Given the description of an element on the screen output the (x, y) to click on. 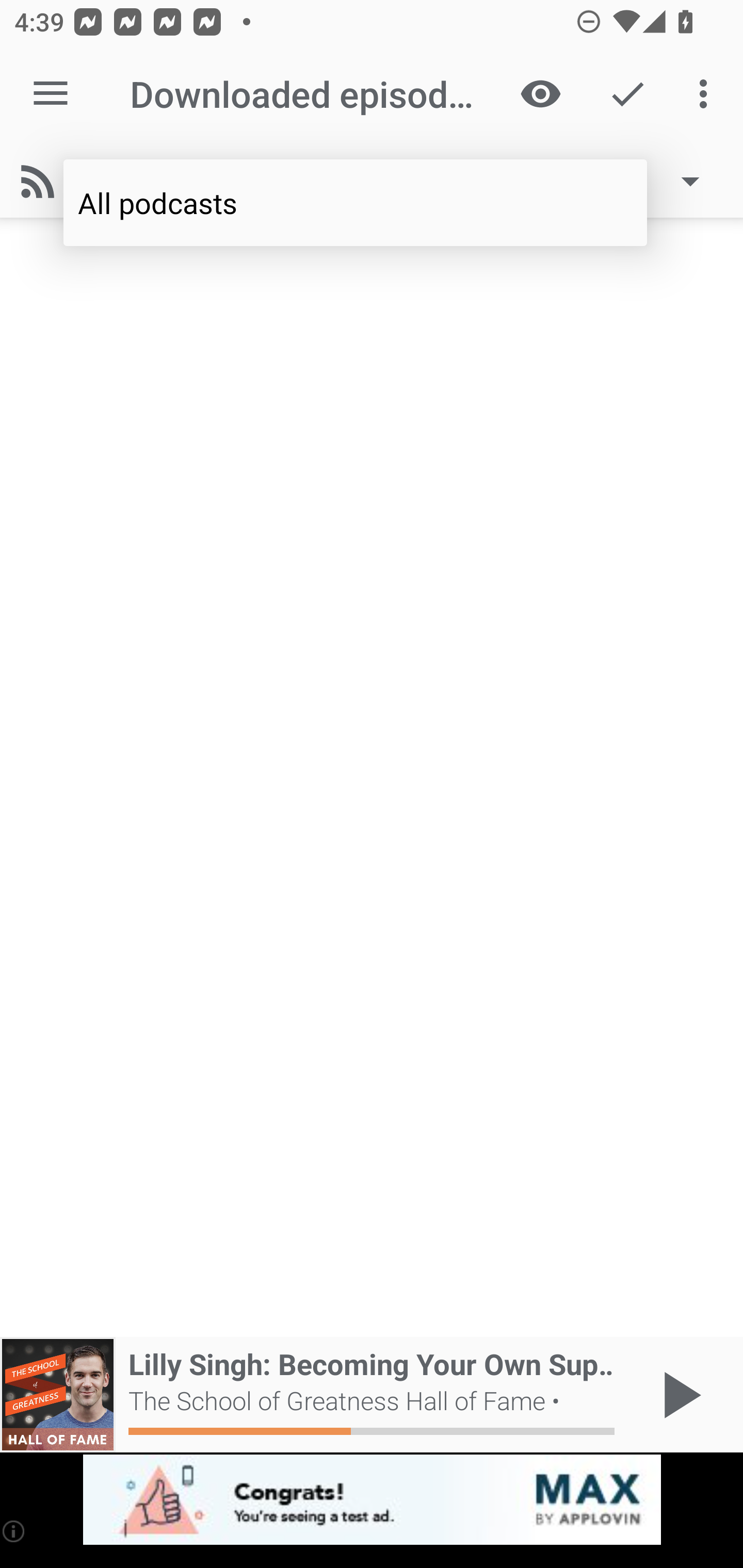
All podcasts (355, 202)
